Given the description of an element on the screen output the (x, y) to click on. 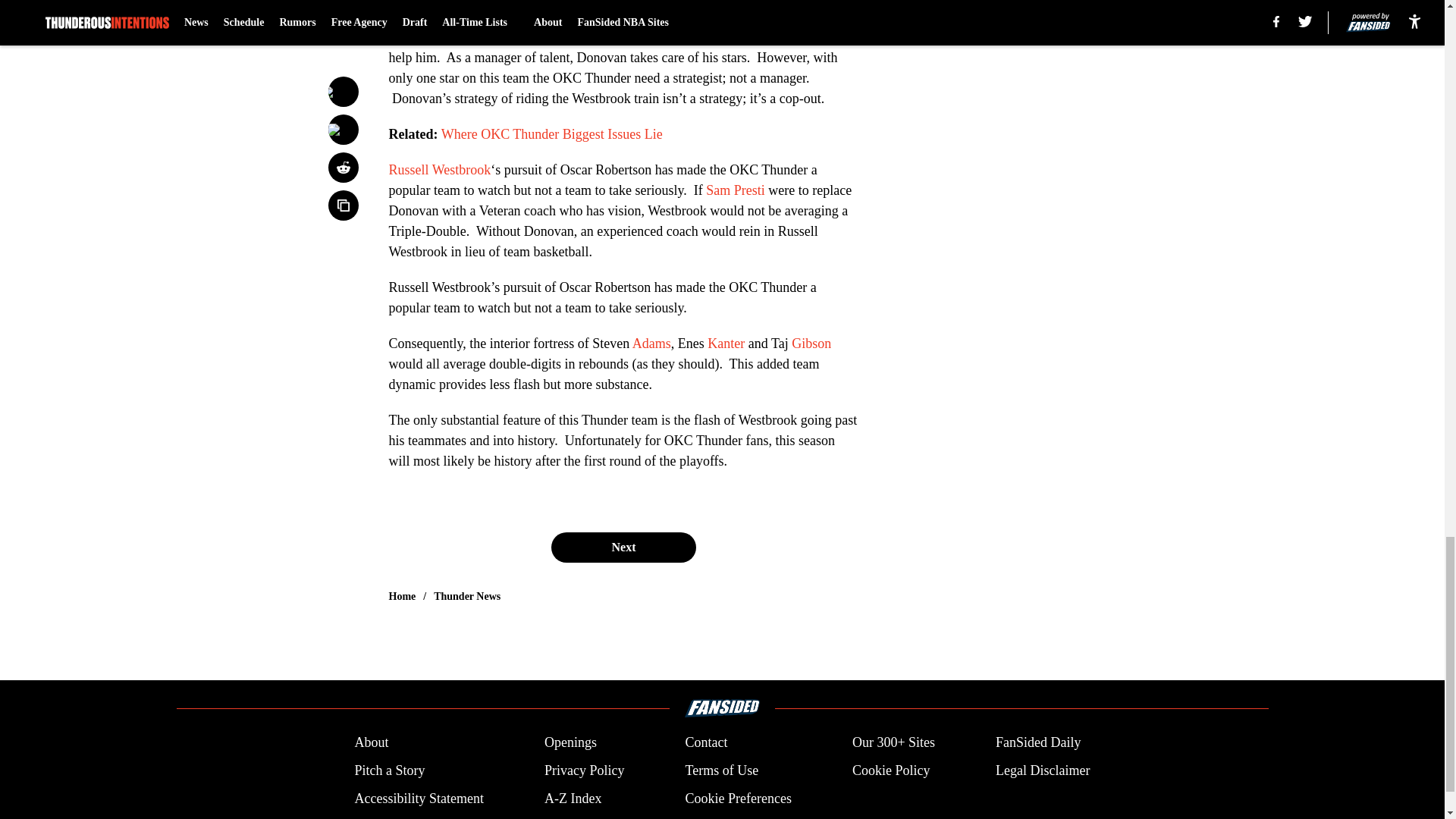
Adams (651, 343)
Westbrook (417, 37)
About (370, 742)
Next (622, 547)
Sam Presti (737, 190)
Kanter (725, 343)
Russell Westbrook (439, 169)
Where OKC Thunder Biggest Issues Lie (551, 133)
Thunder News (466, 596)
Gibson (811, 343)
